Given the description of an element on the screen output the (x, y) to click on. 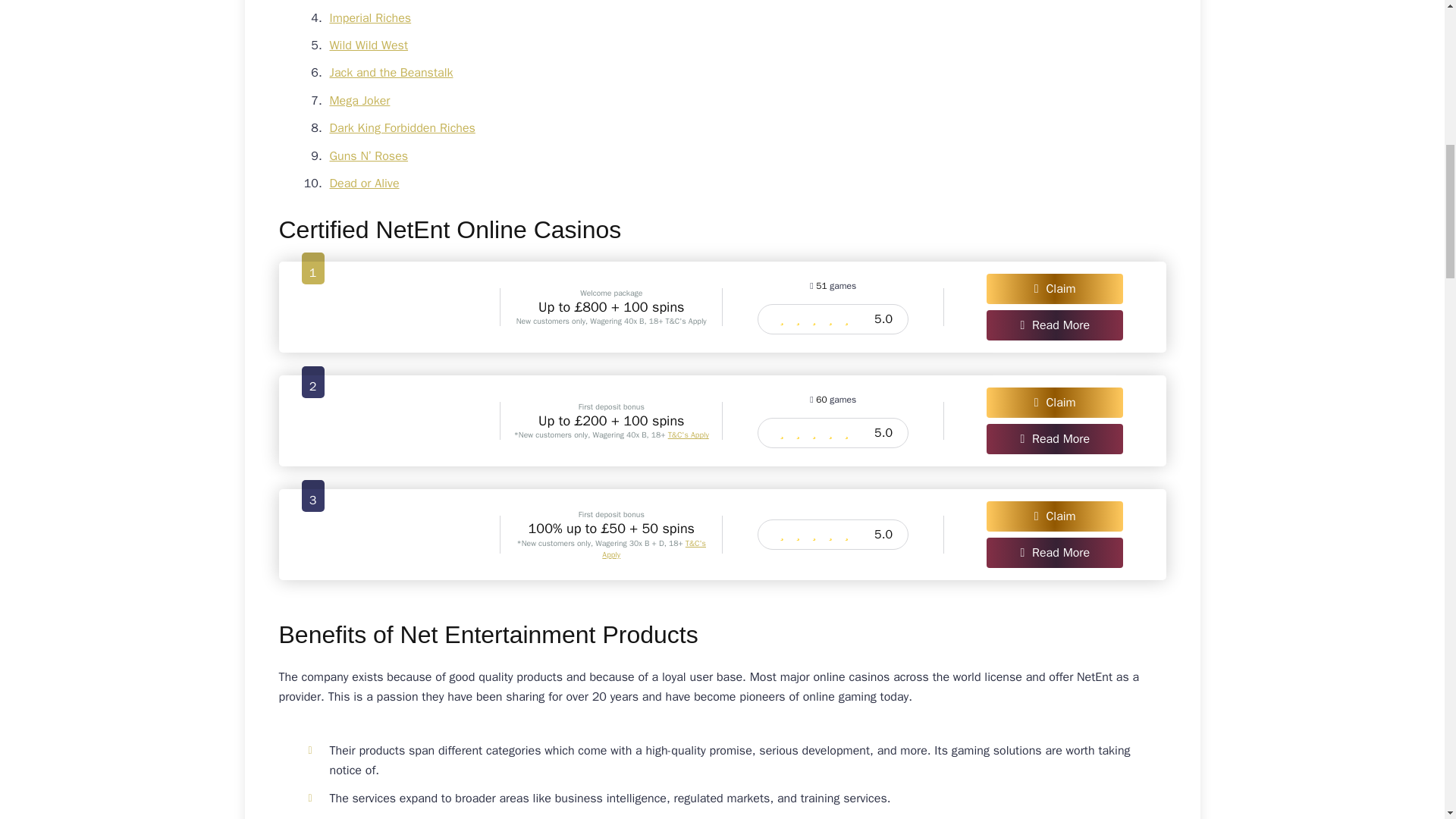
Read More (1054, 439)
Claim (1054, 516)
Read More (1054, 325)
Mr. Play (389, 419)
Claim (1054, 288)
Swift Casino (389, 533)
Claim (1054, 402)
Read More (1054, 552)
Casiplay (389, 305)
